Given the description of an element on the screen output the (x, y) to click on. 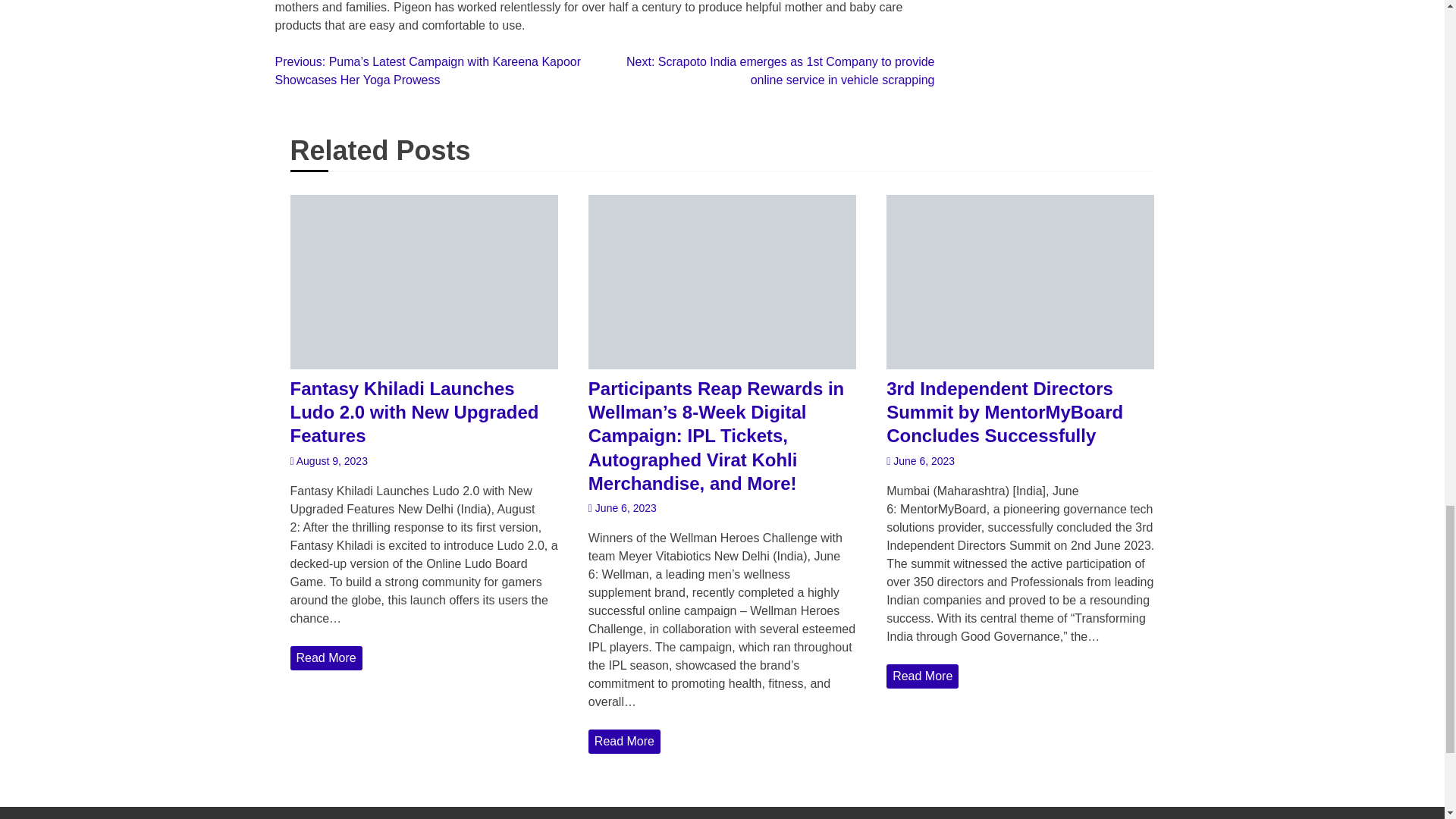
June 6, 2023 (622, 508)
Read More (624, 741)
Read More (325, 658)
June 6, 2023 (920, 461)
August 9, 2023 (327, 461)
